Given the description of an element on the screen output the (x, y) to click on. 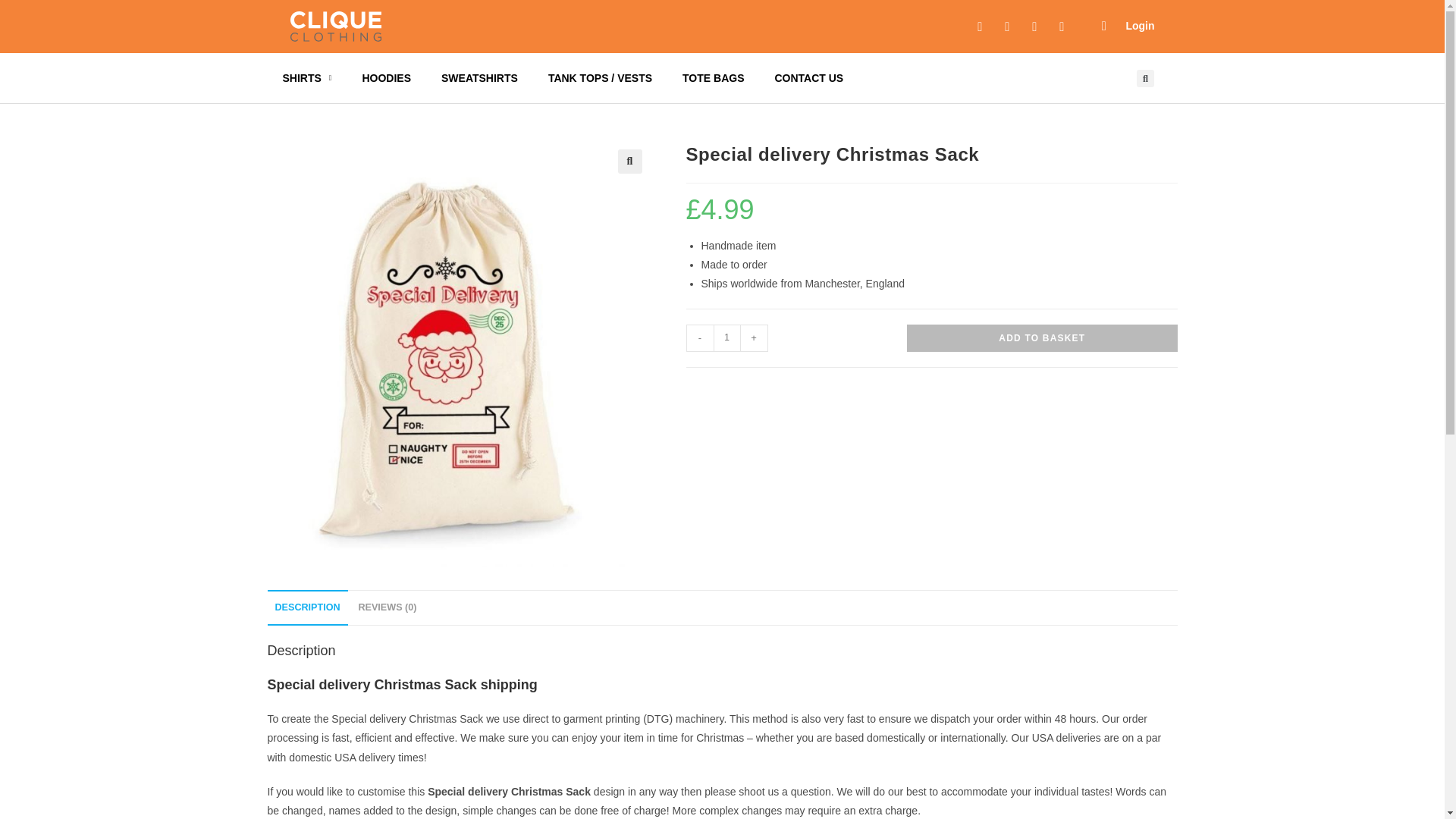
HOODIES (386, 77)
View All Hoodies (386, 77)
DESCRIPTION (306, 607)
View All T-Shirts (306, 77)
Contact Clique Wear (808, 77)
TOTE BAGS (712, 77)
1 (726, 338)
- (699, 338)
Login (1139, 25)
View All Tank Tops and Vests (599, 77)
SWEATSHIRTS (479, 77)
SHIRTS (306, 77)
ADD TO BASKET (1041, 338)
CONTACT US (808, 77)
View All Sweatshirts and jumpers (479, 77)
